Given the description of an element on the screen output the (x, y) to click on. 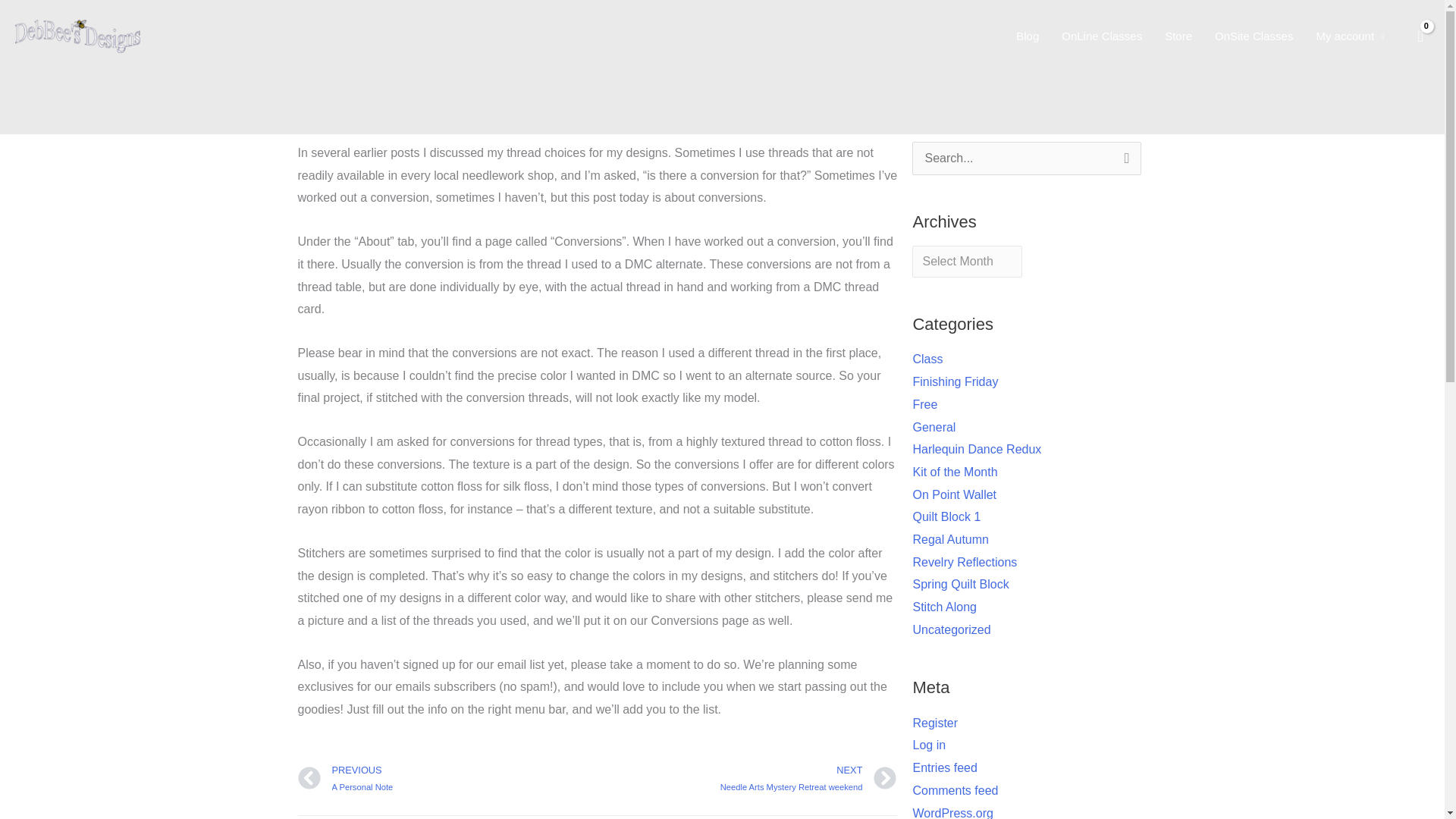
Free (924, 404)
Finishing Friday (446, 778)
My account (954, 381)
Class (1349, 36)
Harlequin Dance Redux (746, 778)
Quilt Block 1 (927, 358)
OnLine Classes (976, 449)
Store (945, 516)
Regal Autumn (1101, 36)
General (1178, 36)
OnSite Classes (950, 539)
On Point Wallet (933, 427)
Kit of the Month (1254, 36)
